Given the description of an element on the screen output the (x, y) to click on. 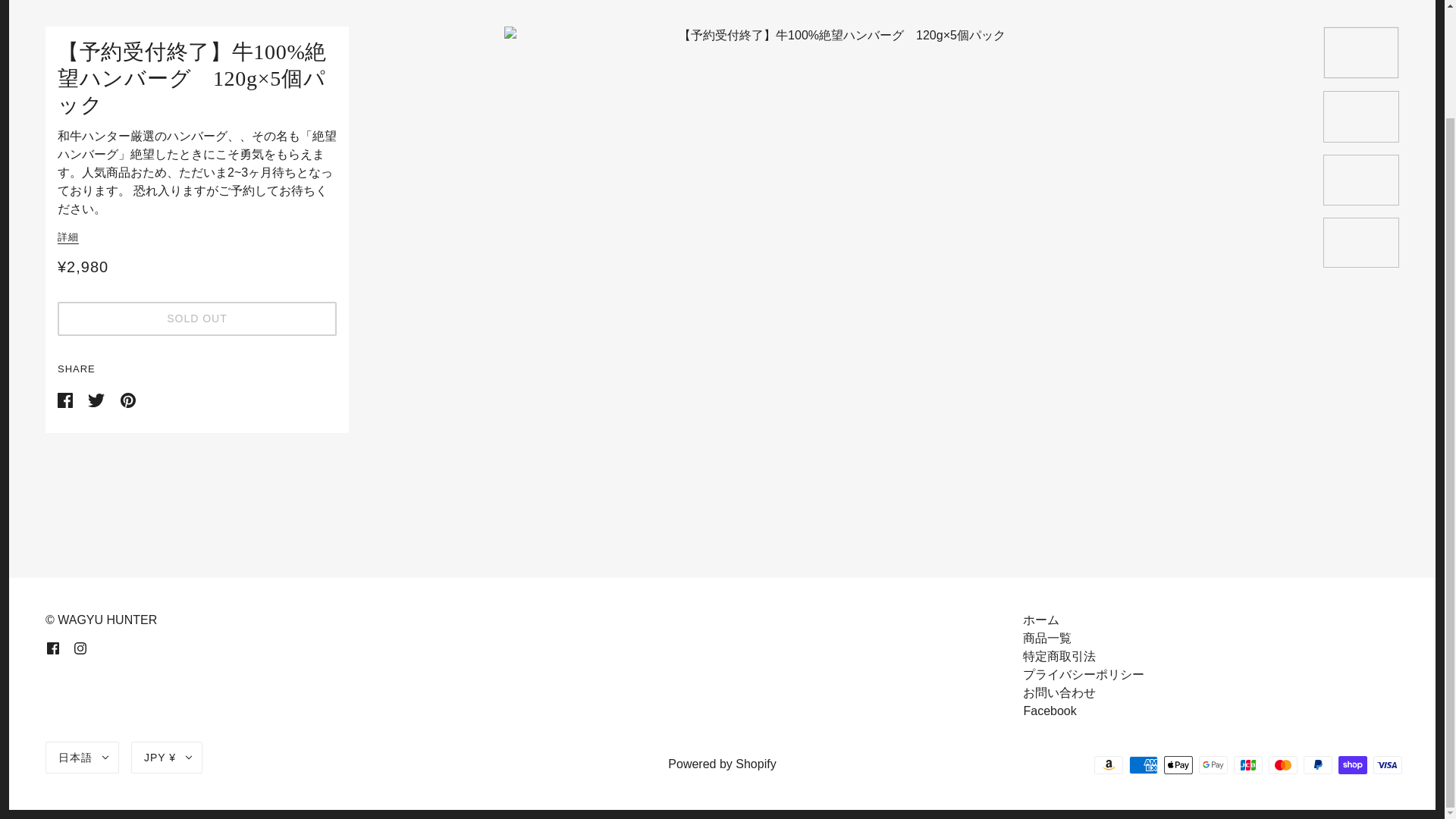
Facebook (1049, 710)
JCB (1247, 764)
Shop Pay (1352, 764)
PayPal (1317, 764)
Mastercard (1282, 764)
Google Pay (1212, 764)
Amazon (1108, 764)
American Express (1143, 764)
Visa (1387, 764)
SOLD OUT (197, 318)
